Given the description of an element on the screen output the (x, y) to click on. 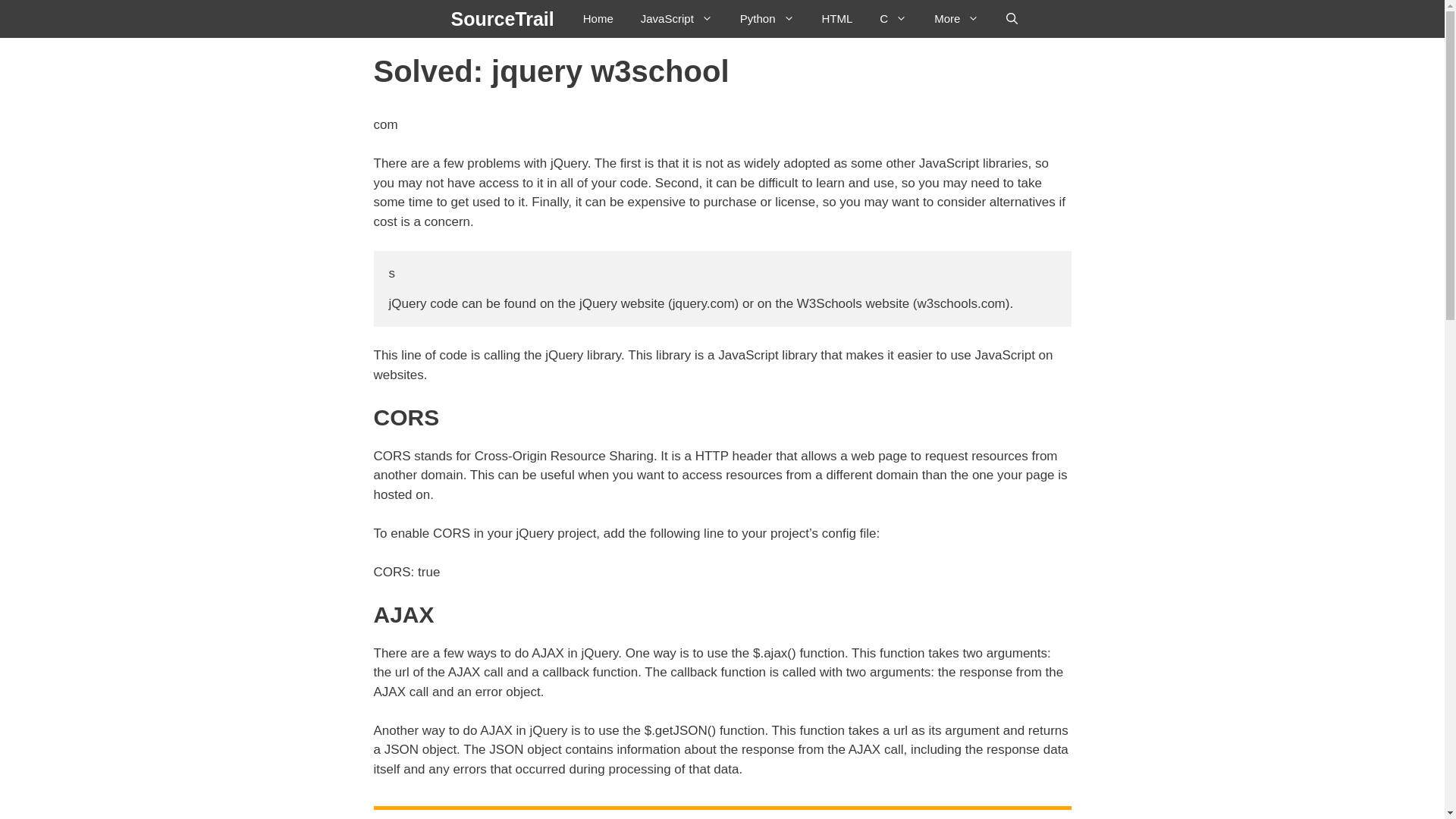
More (956, 18)
C (893, 18)
Python (767, 18)
JavaScript (676, 18)
Home (598, 18)
HTML (837, 18)
SourceTrail (502, 18)
